Given the description of an element on the screen output the (x, y) to click on. 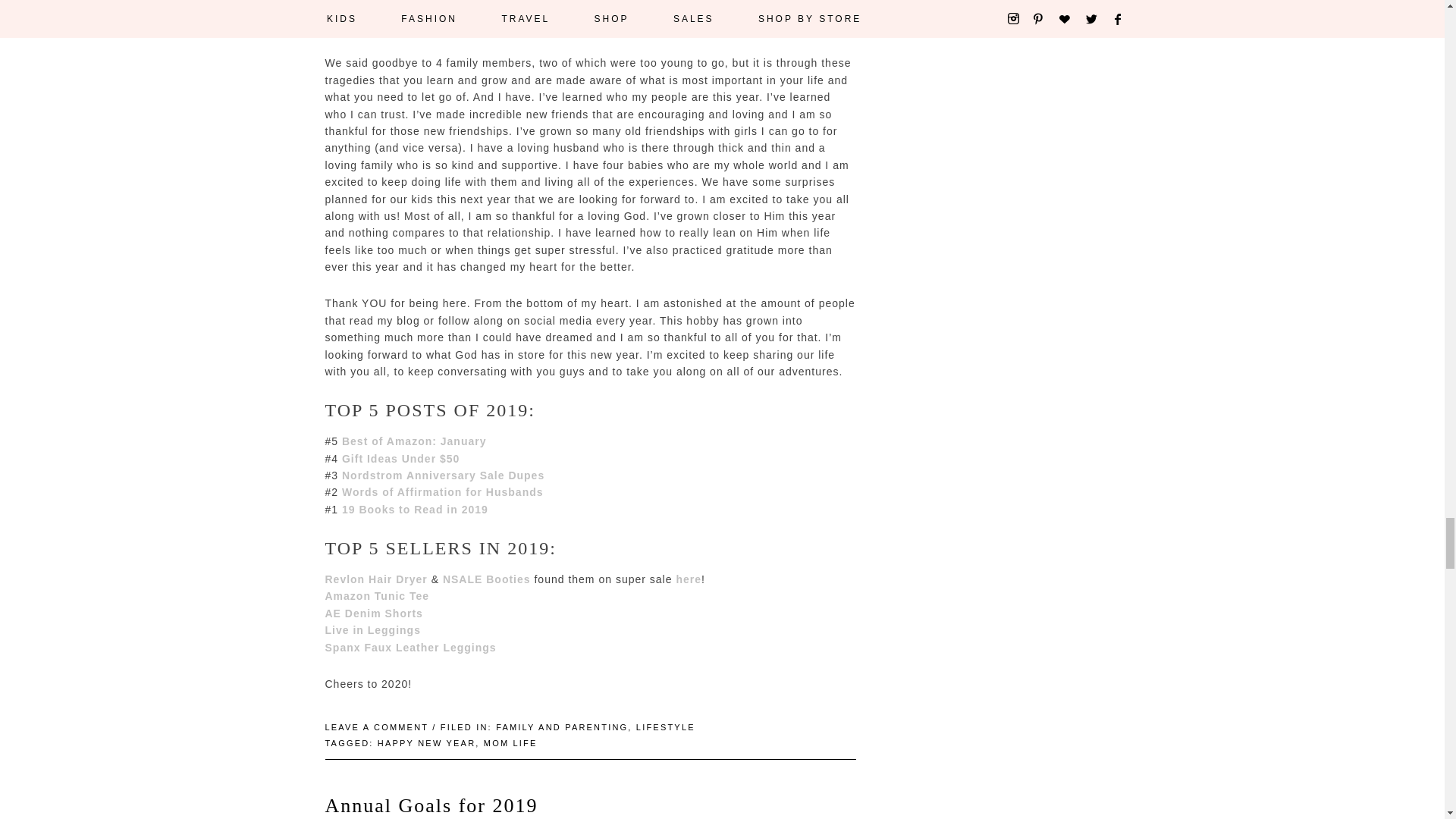
Amazon Tunic Tee (376, 595)
19 Books to Read in 2019 (414, 509)
AE Denim Shorts (373, 613)
here (688, 579)
NSALE Booties (486, 579)
Best of Amazon: January (414, 440)
Words of Affirmation for Husbands (442, 491)
Revlon Hair Dryer (375, 579)
Nordstrom Anniversary Sale Dupes (443, 475)
